Given the description of an element on the screen output the (x, y) to click on. 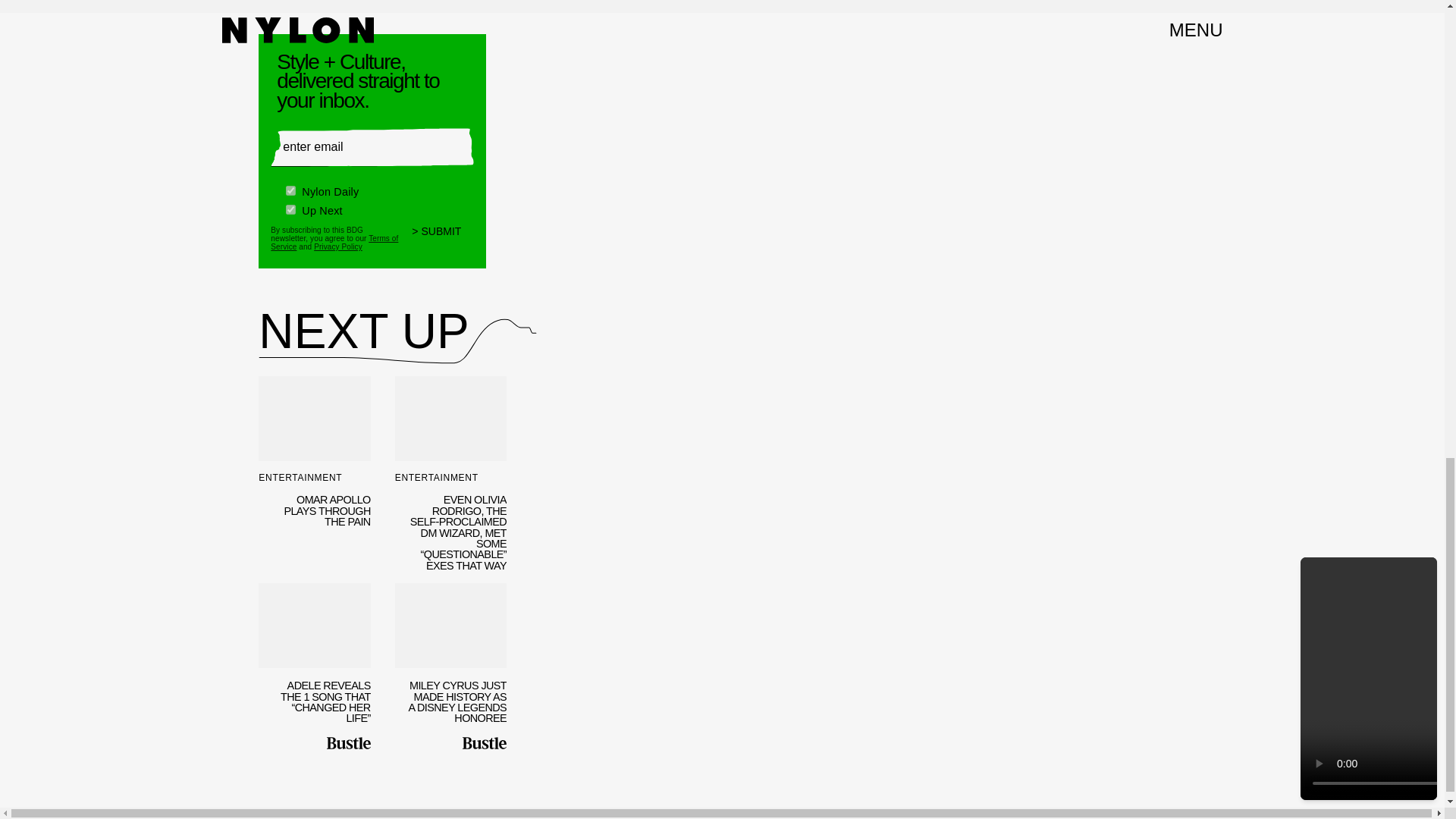
Terms of Service (333, 235)
Privacy Policy (338, 241)
SUBMIT (443, 232)
